Given the description of an element on the screen output the (x, y) to click on. 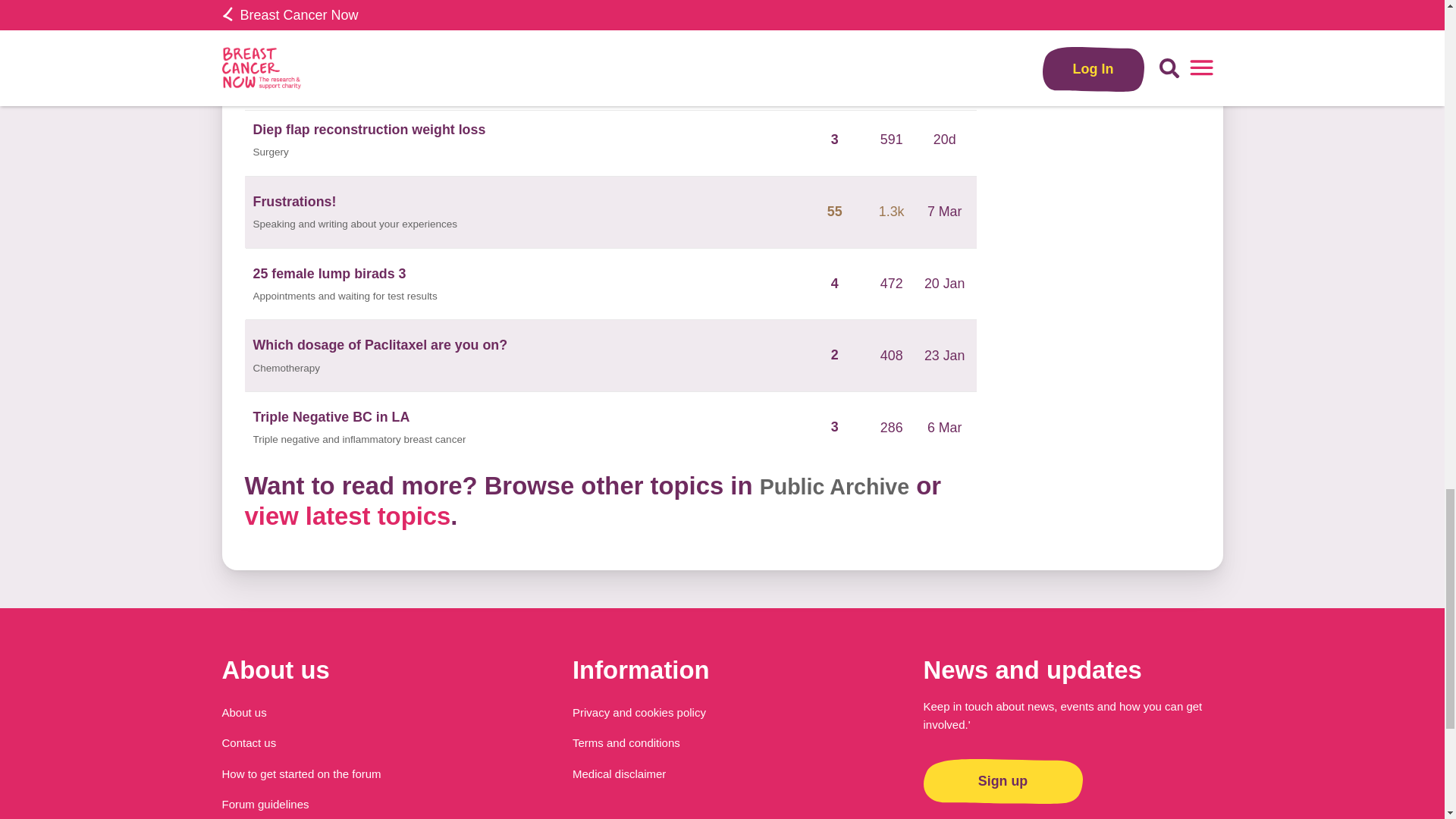
Surgery (270, 152)
Diep flap reconstruction weight loss (369, 129)
